Given the description of an element on the screen output the (x, y) to click on. 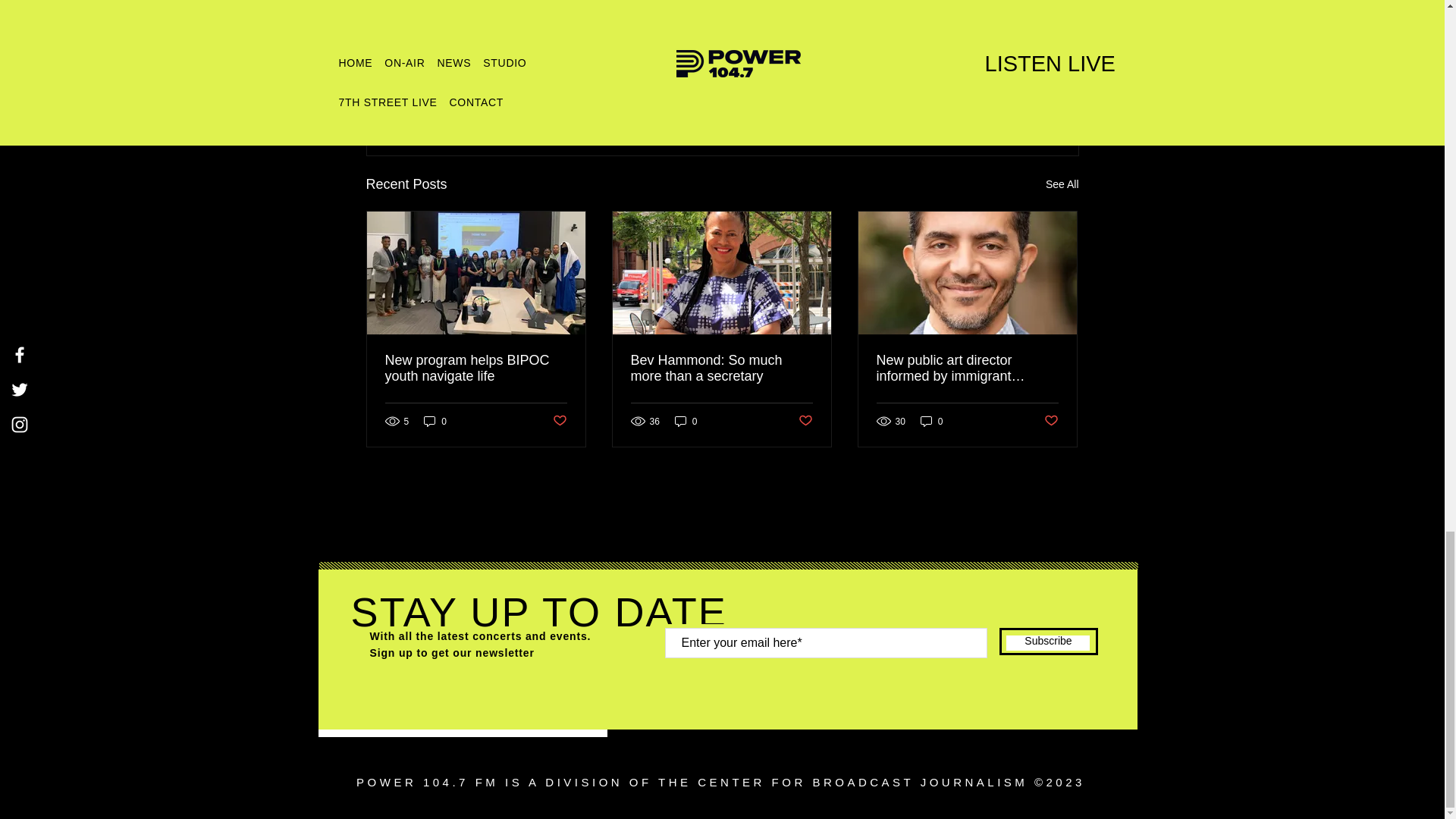
Health (987, 55)
Culture Cast (926, 55)
Post not marked as liked (995, 101)
See All (1061, 184)
